Given the description of an element on the screen output the (x, y) to click on. 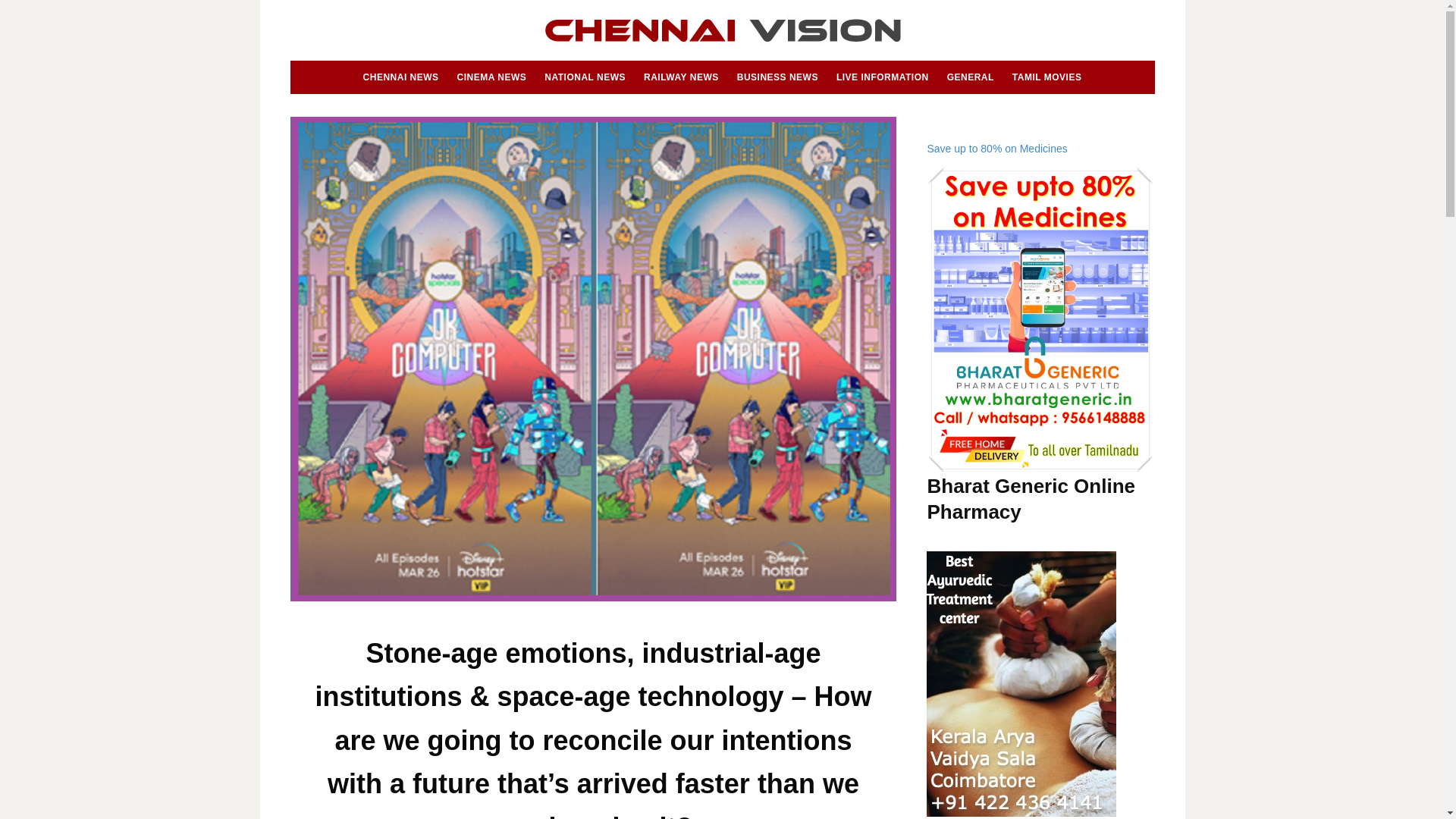
NATIONAL NEWS (585, 77)
LIVE INFORMATION (882, 77)
RAILWAY NEWS (681, 77)
GENERAL (969, 77)
CHENNAI NEWS (401, 77)
BUSINESS NEWS (777, 77)
CINEMA NEWS (491, 77)
